Given the description of an element on the screen output the (x, y) to click on. 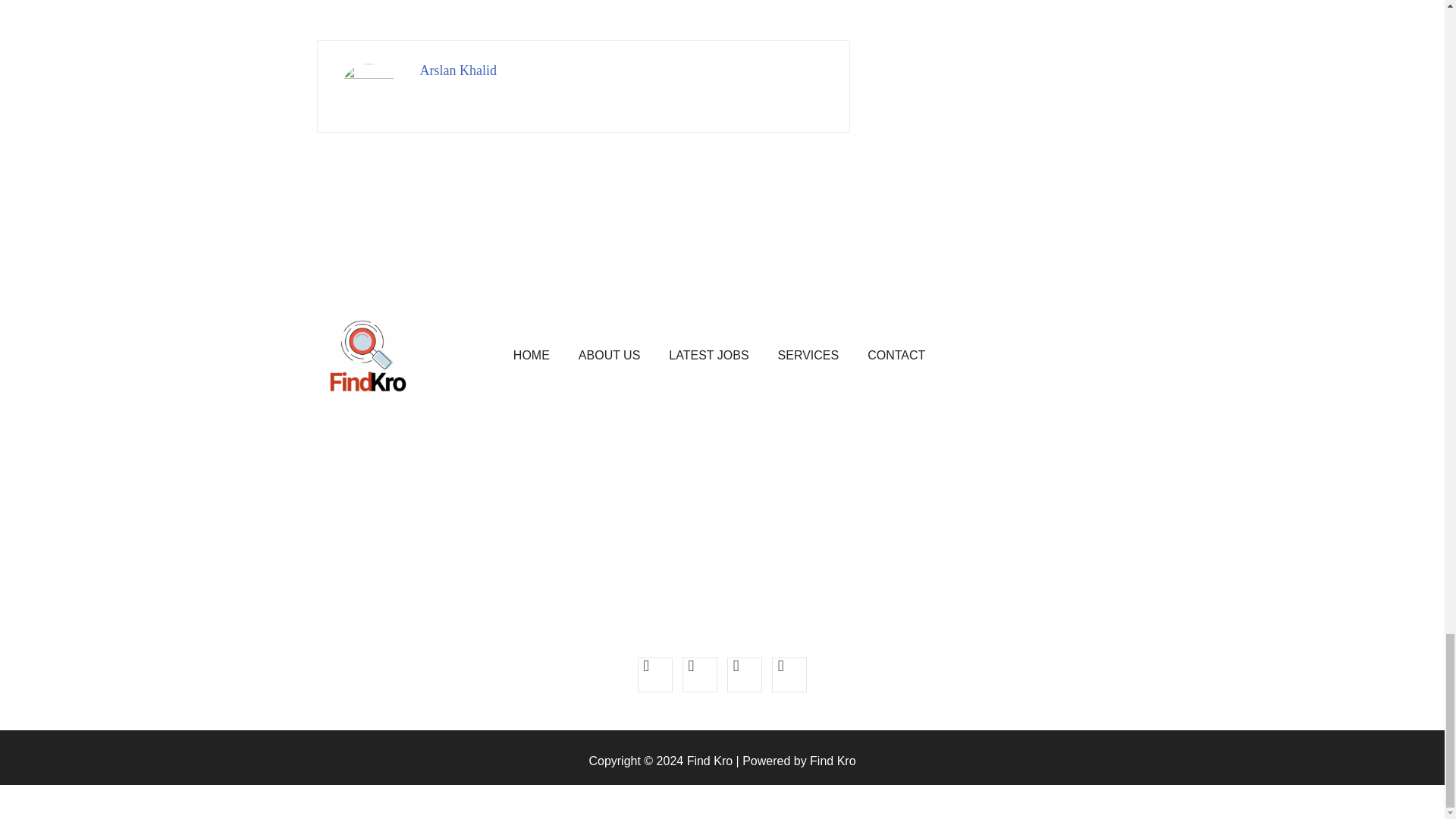
Arslan Khalid (458, 70)
ABOUT US (609, 355)
CONTACT (895, 355)
HOME (531, 355)
SERVICES (808, 355)
LATEST JOBS (708, 355)
